Given the description of an element on the screen output the (x, y) to click on. 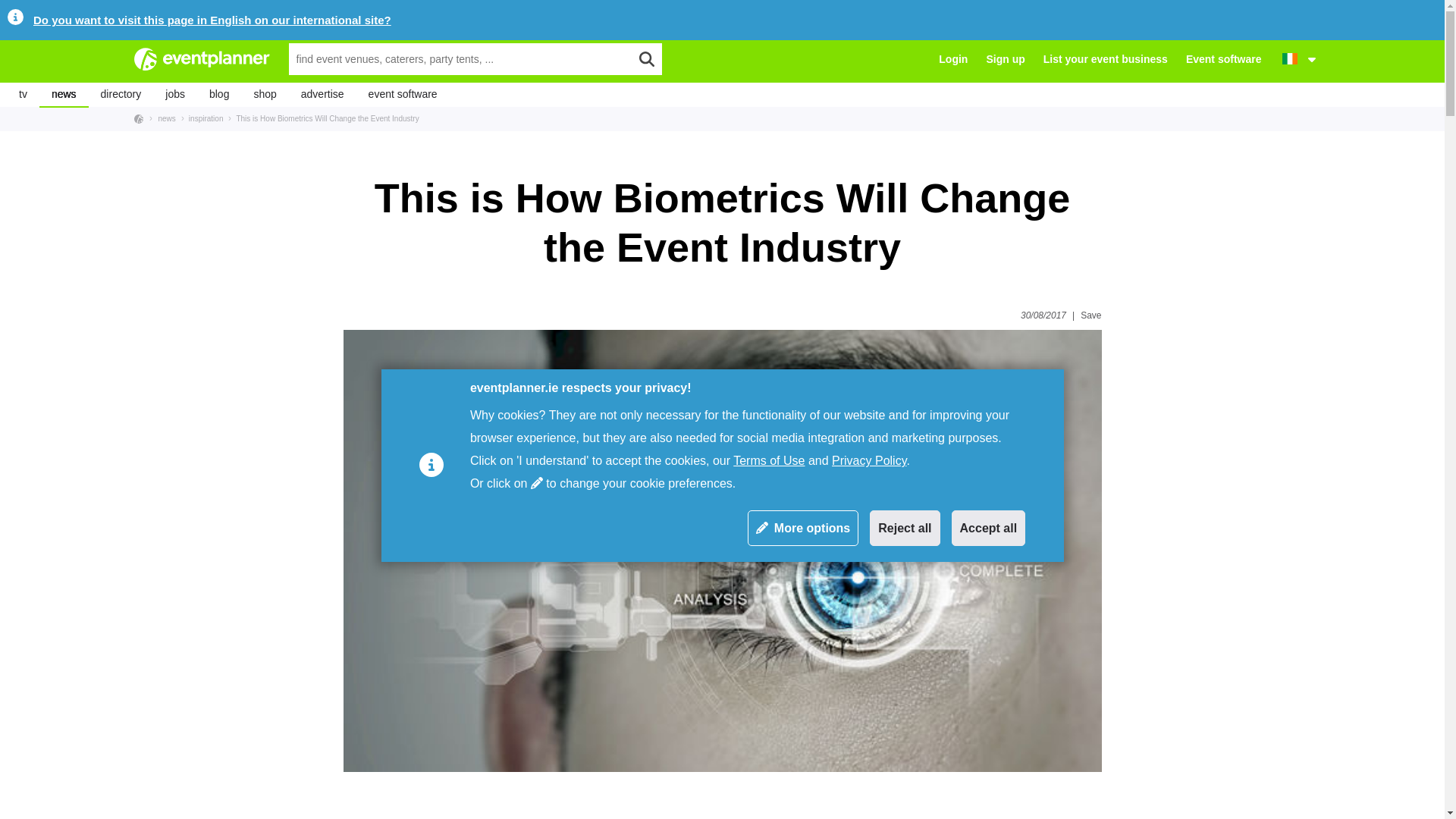
jobs (174, 94)
Sign up (1005, 59)
blog (218, 94)
This is How Biometrics Will Change the Event Industry (323, 118)
directory (121, 94)
List your event business (1105, 59)
advertise (322, 94)
news (63, 94)
Event software (1224, 59)
shop (264, 94)
Login (953, 59)
tv (23, 94)
